Given the description of an element on the screen output the (x, y) to click on. 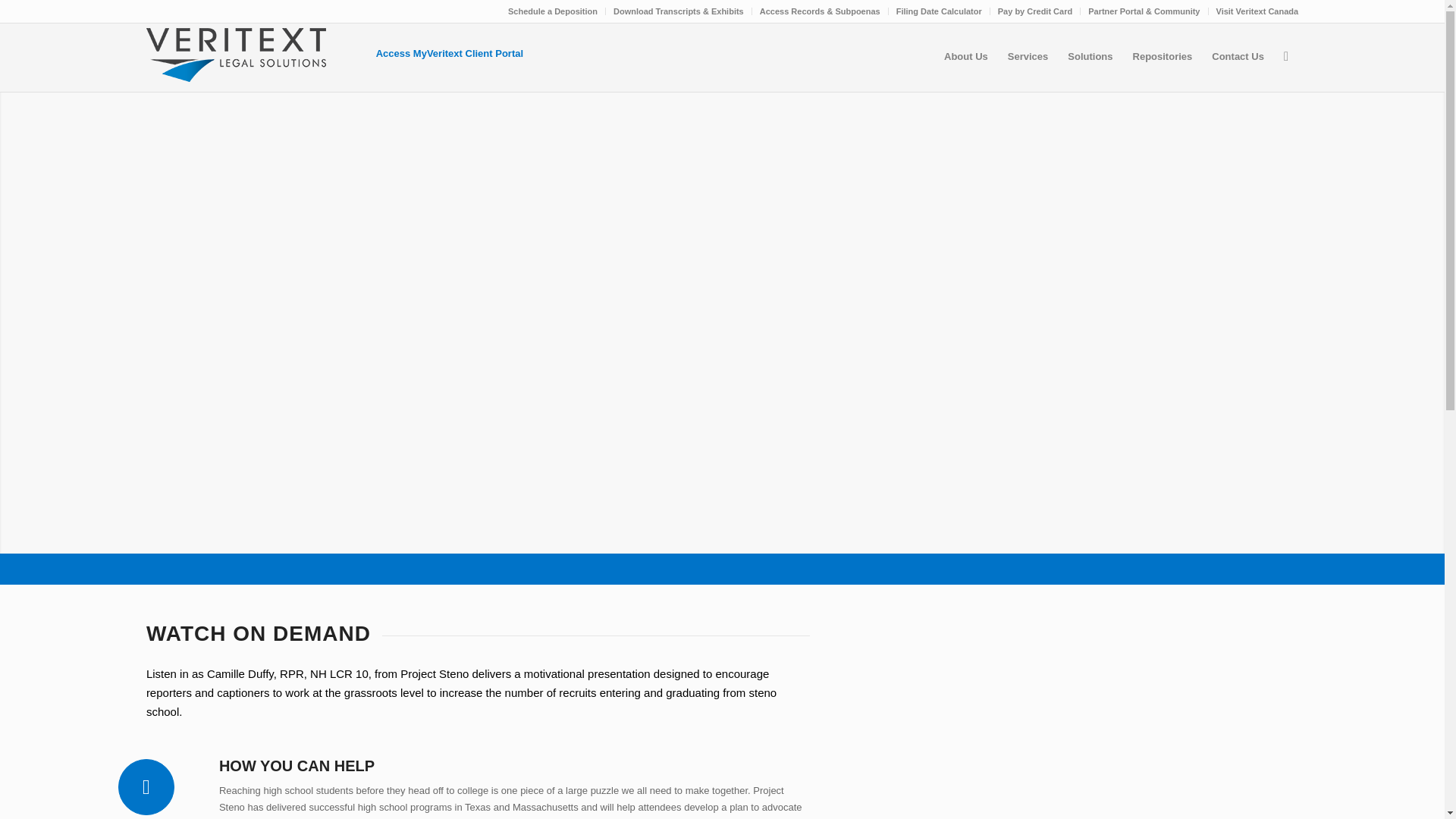
Pay by Credit Card (1034, 11)
About Us (965, 56)
Schedule a Deposition (552, 11)
Filing Date Calculator (938, 11)
Solutions (1090, 56)
Repositories (1162, 56)
Services (1027, 56)
Visit Veritext Canada (1256, 11)
